Given the description of an element on the screen output the (x, y) to click on. 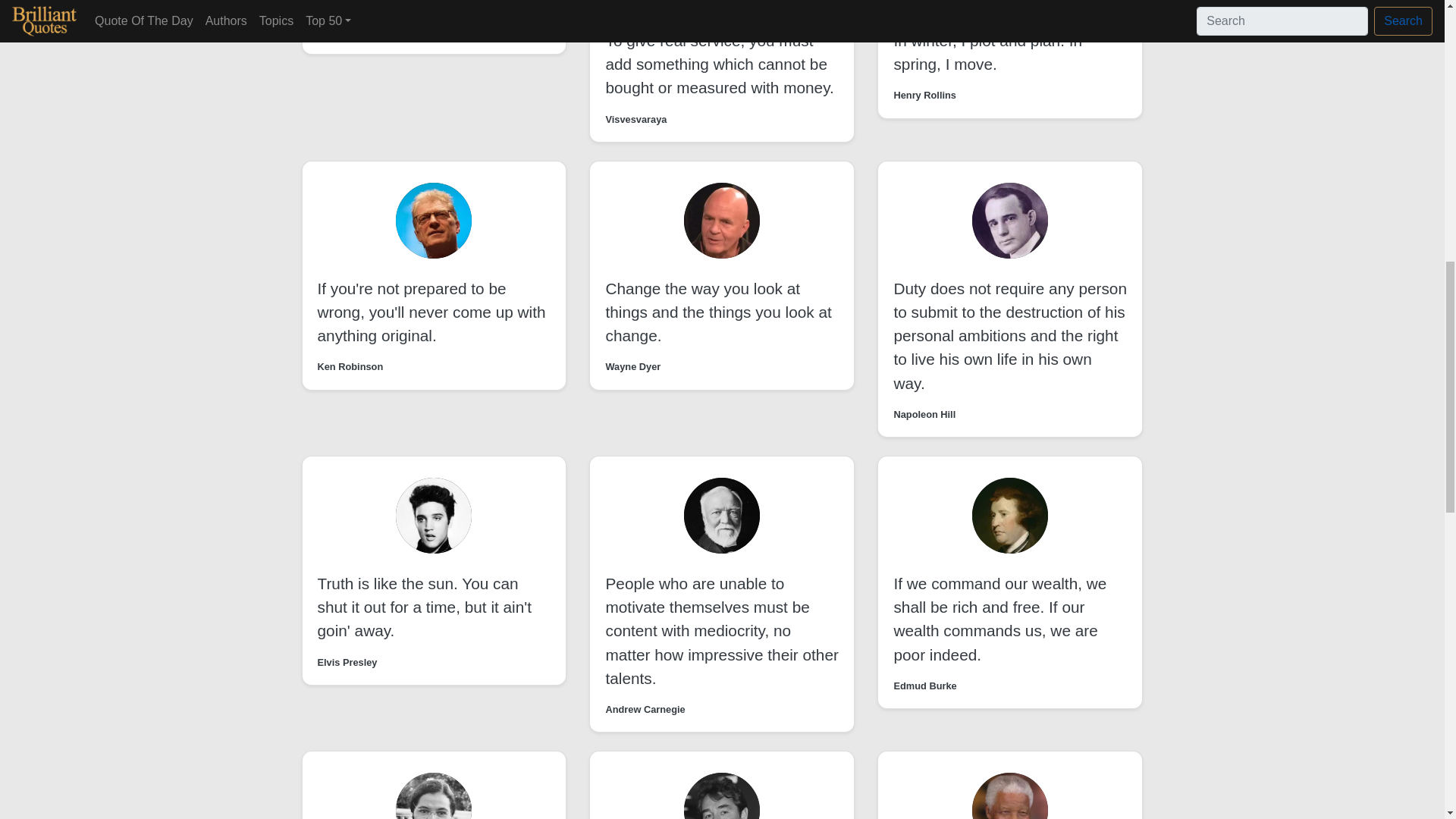
Visvesvaraya (635, 119)
Ken Robinson (349, 366)
Napoleon Hill (924, 414)
Wayne Dyer (633, 366)
Arthur Williams (352, 31)
In winter, I plot and plan. In spring, I move. (987, 51)
Henry Rollins (924, 94)
Elvis Presley (347, 662)
